Given the description of an element on the screen output the (x, y) to click on. 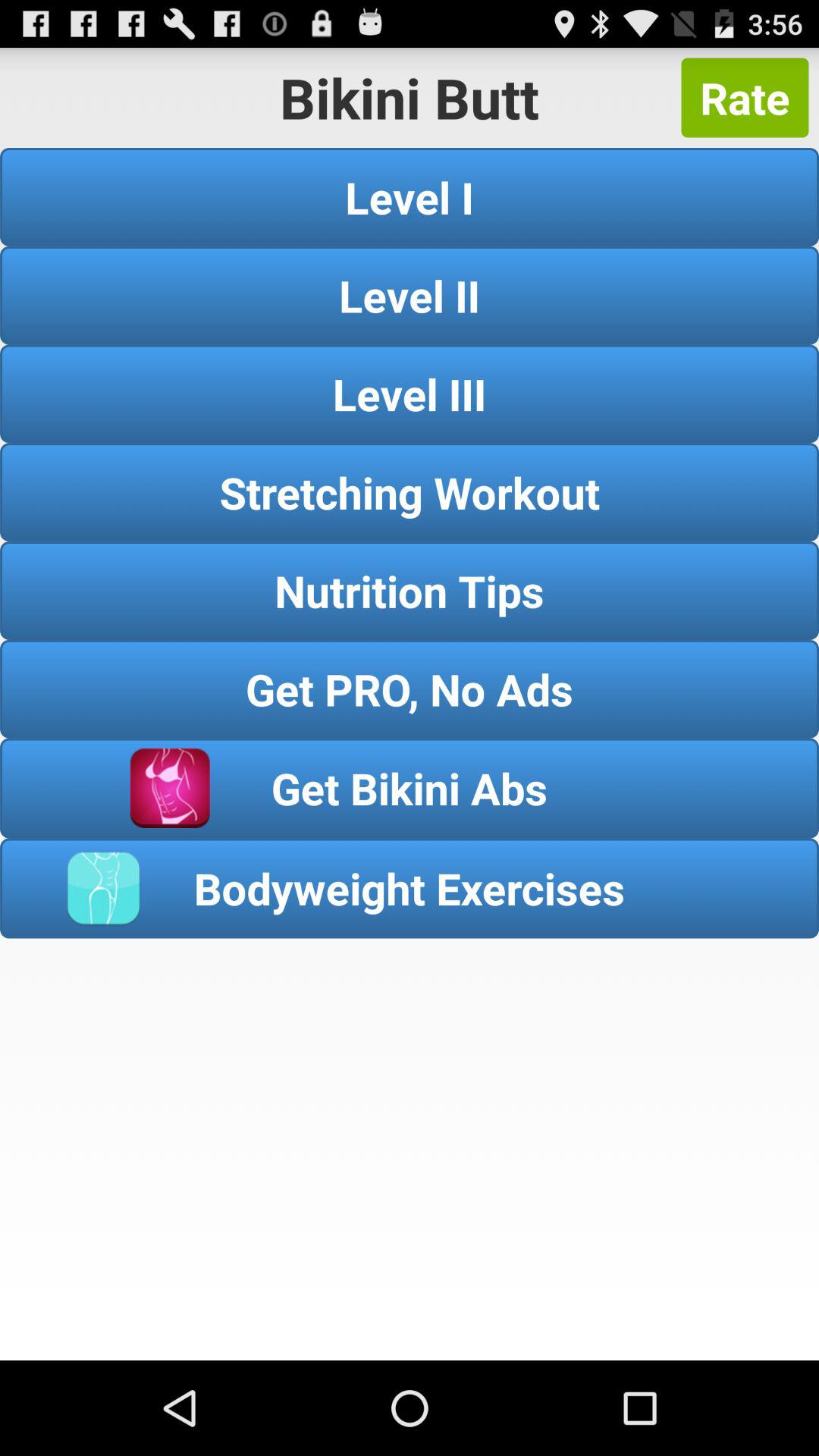
turn on item above the level i item (744, 97)
